Given the description of an element on the screen output the (x, y) to click on. 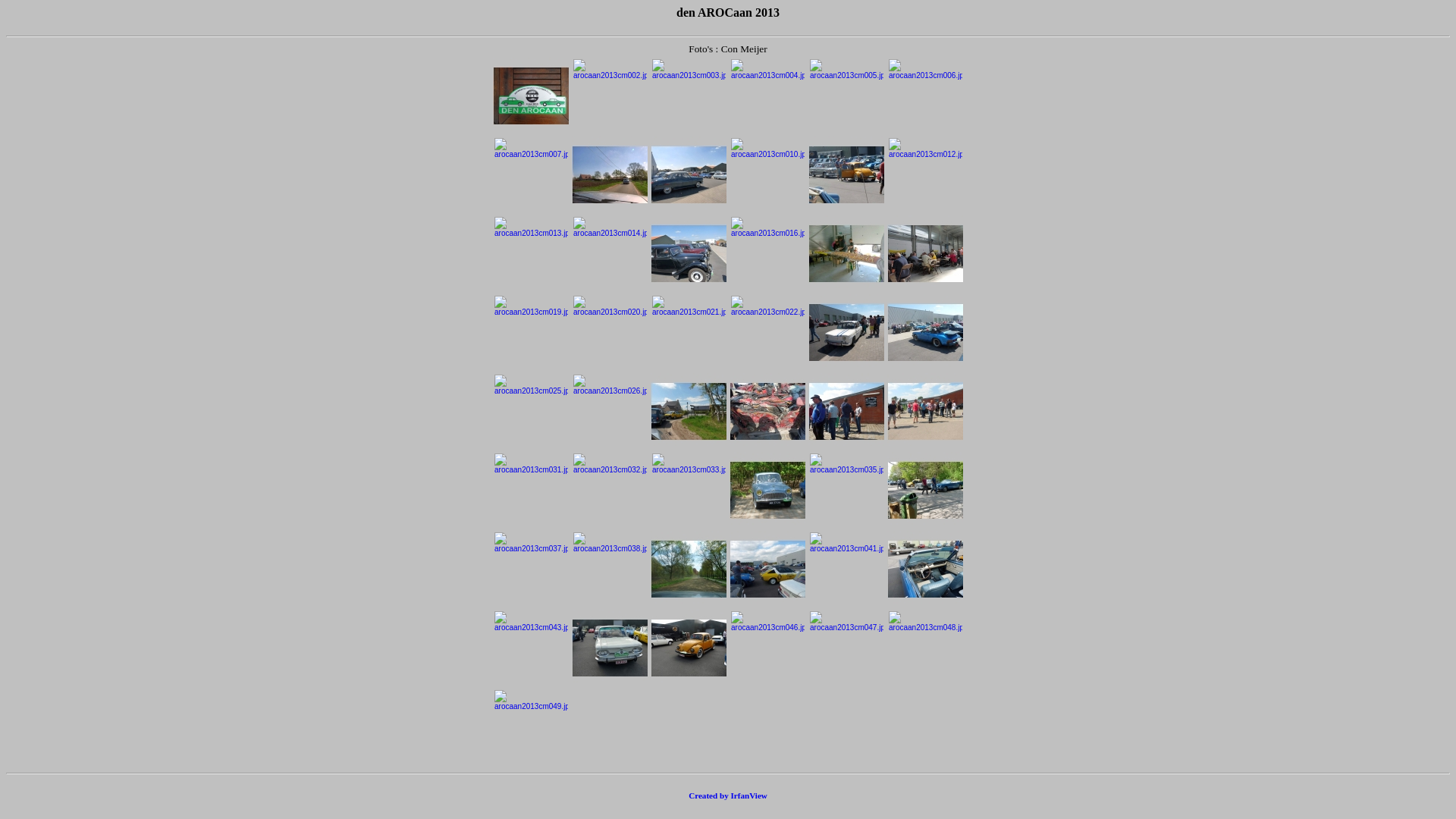
Created by IrfanView Element type: text (727, 795)
